Given the description of an element on the screen output the (x, y) to click on. 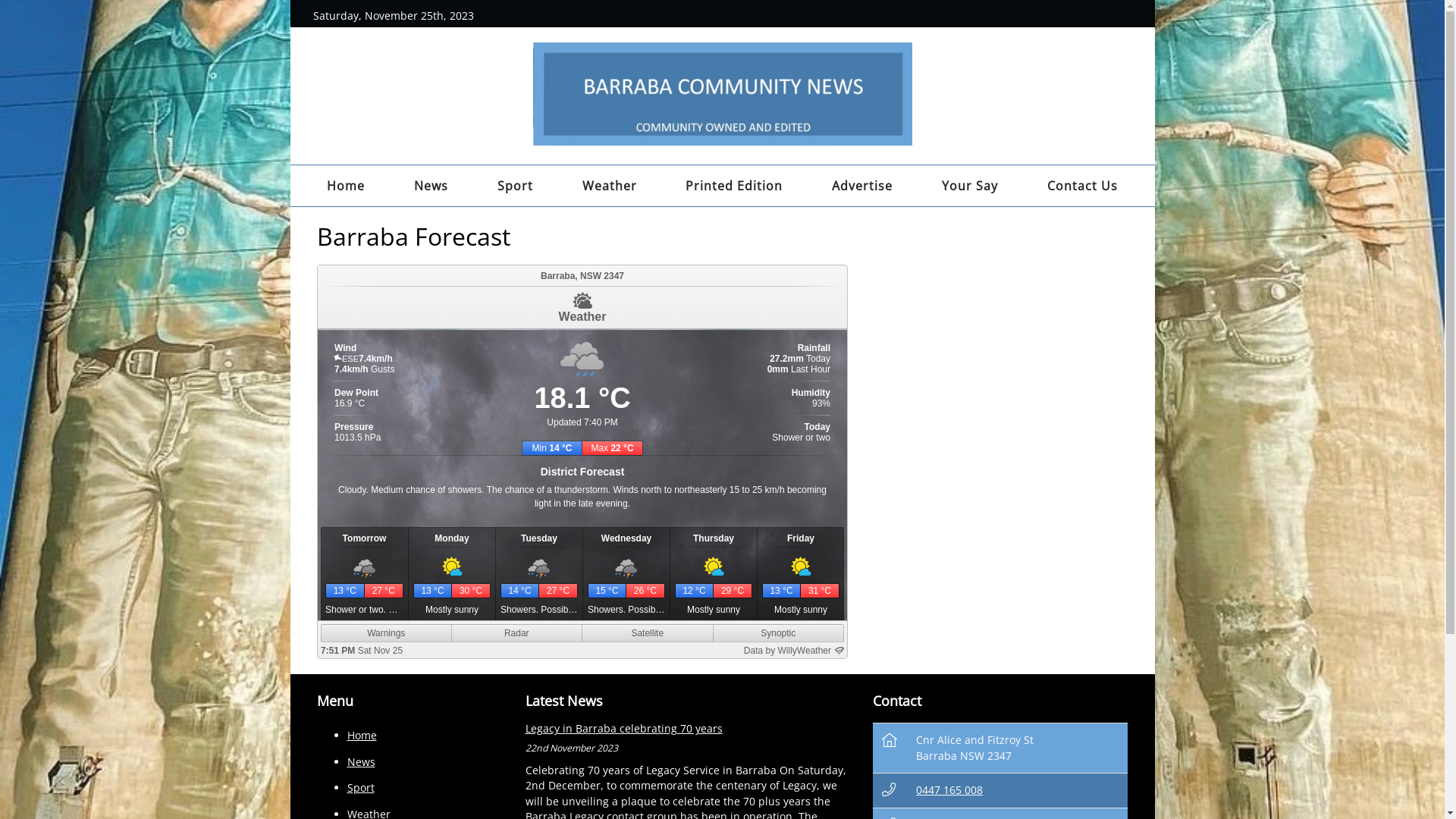
barraba weather information Element type: text (583, 650)
Printed Edition Element type: text (734, 185)
Home Element type: text (345, 185)
Sport Element type: text (514, 185)
Home Element type: text (361, 735)
Your Say Element type: text (969, 185)
0447 165 008 Element type: text (949, 789)
News Element type: text (430, 185)
Sport Element type: text (360, 787)
Advertise Element type: text (862, 185)
Contact Us Element type: text (1082, 185)
Weather Element type: text (609, 185)
Legacy in Barraba celebrating 70 years Element type: text (622, 728)
News Element type: text (361, 761)
